Given the description of an element on the screen output the (x, y) to click on. 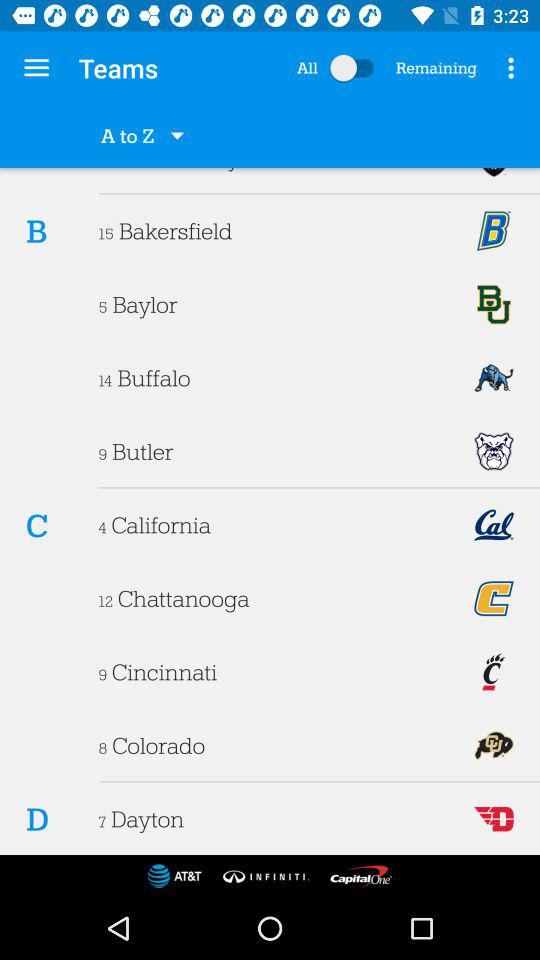
toggle select all (356, 67)
